Given the description of an element on the screen output the (x, y) to click on. 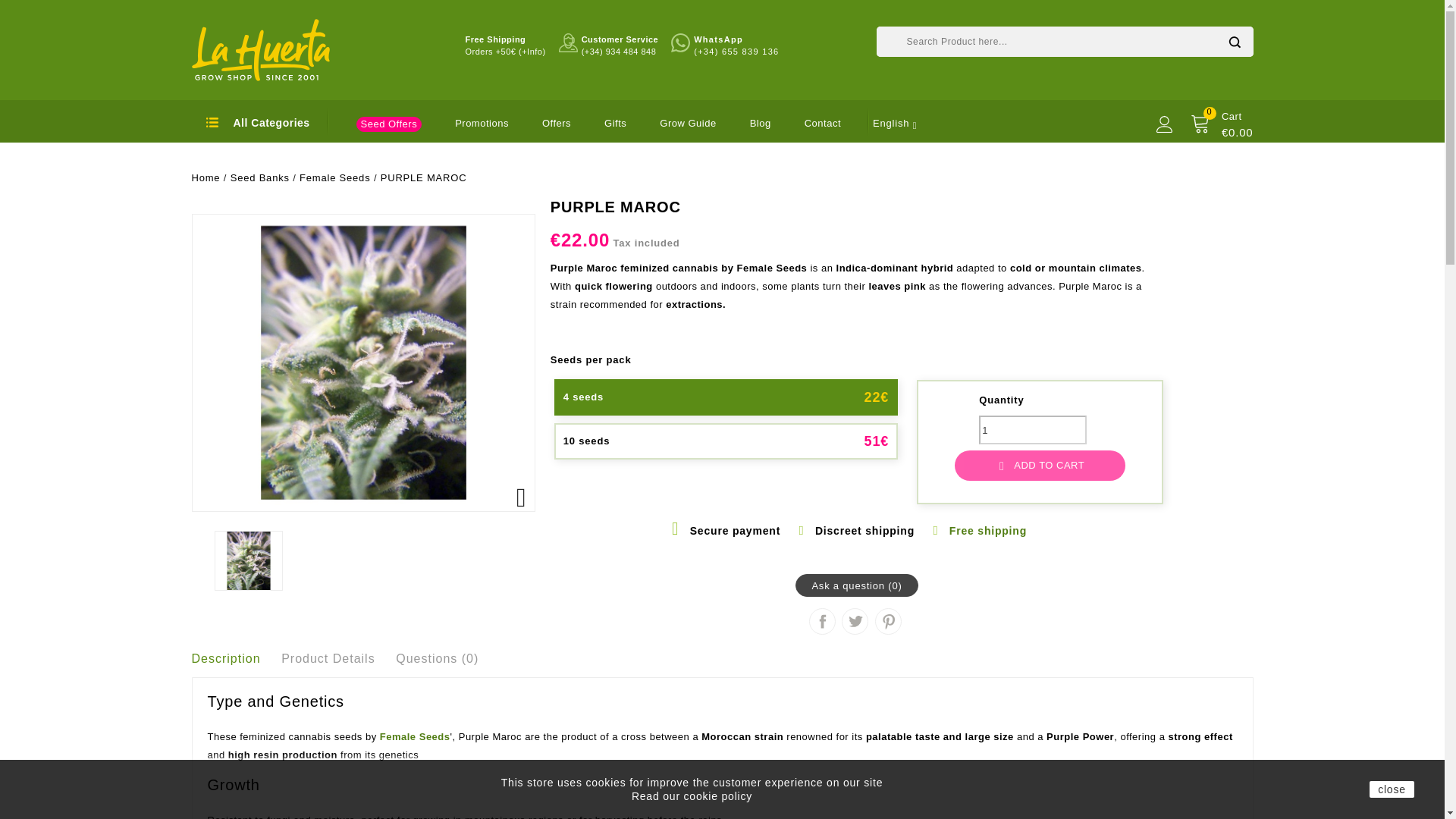
Tweet (855, 621)
Blog (760, 123)
Grow guide (687, 123)
Share (821, 621)
1 (1032, 429)
Search (1233, 41)
Contact (823, 123)
Seed Offers (389, 124)
Offers (555, 123)
Pinterest (888, 621)
